Given the description of an element on the screen output the (x, y) to click on. 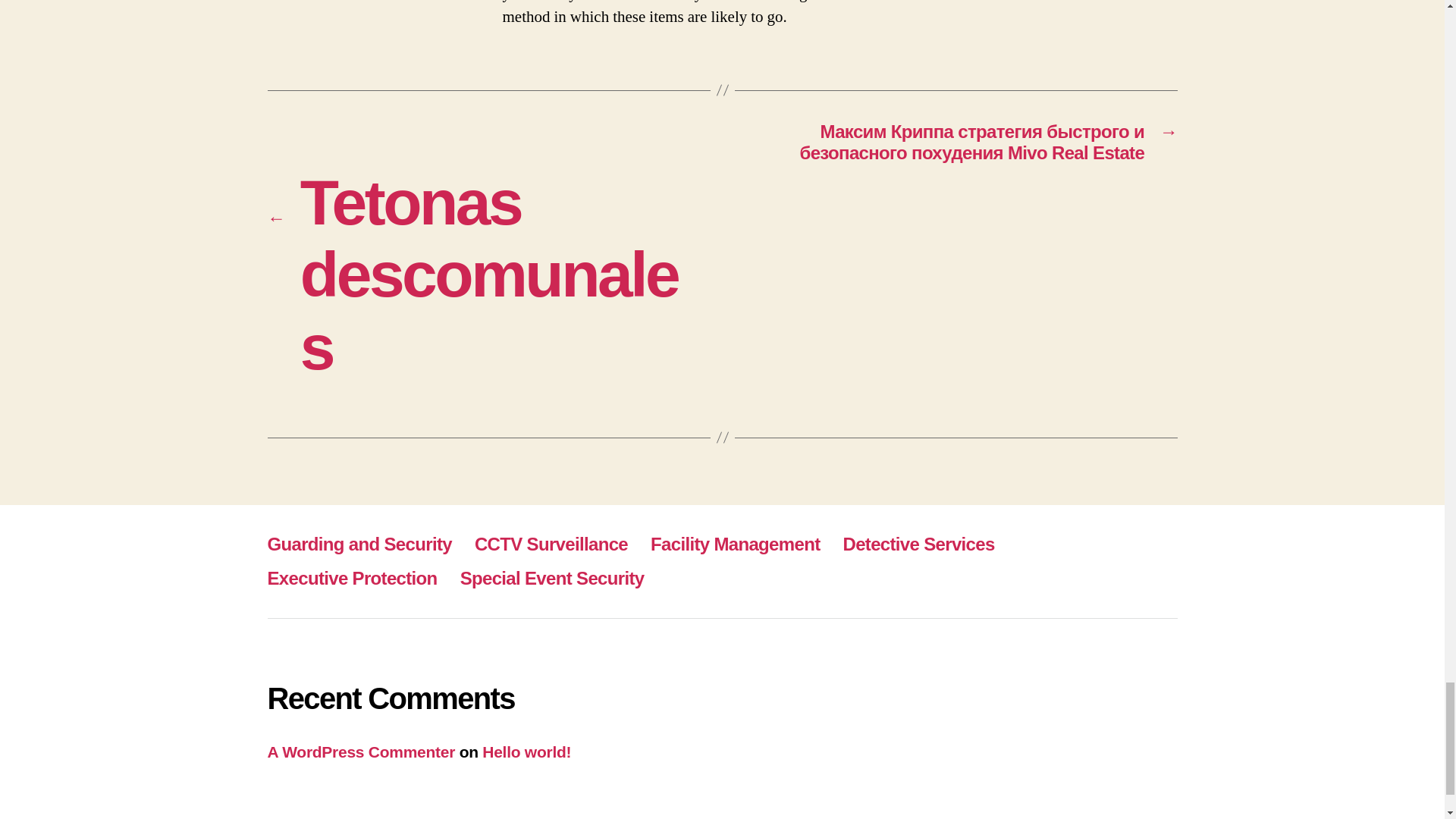
Special Event Security (552, 578)
Detective Services (918, 543)
A WordPress Commenter (360, 751)
Hello world! (525, 751)
Facility Management (734, 543)
Executive Protection (351, 578)
CCTV Surveillance (550, 543)
Guarding and Security (358, 543)
